Given the description of an element on the screen output the (x, y) to click on. 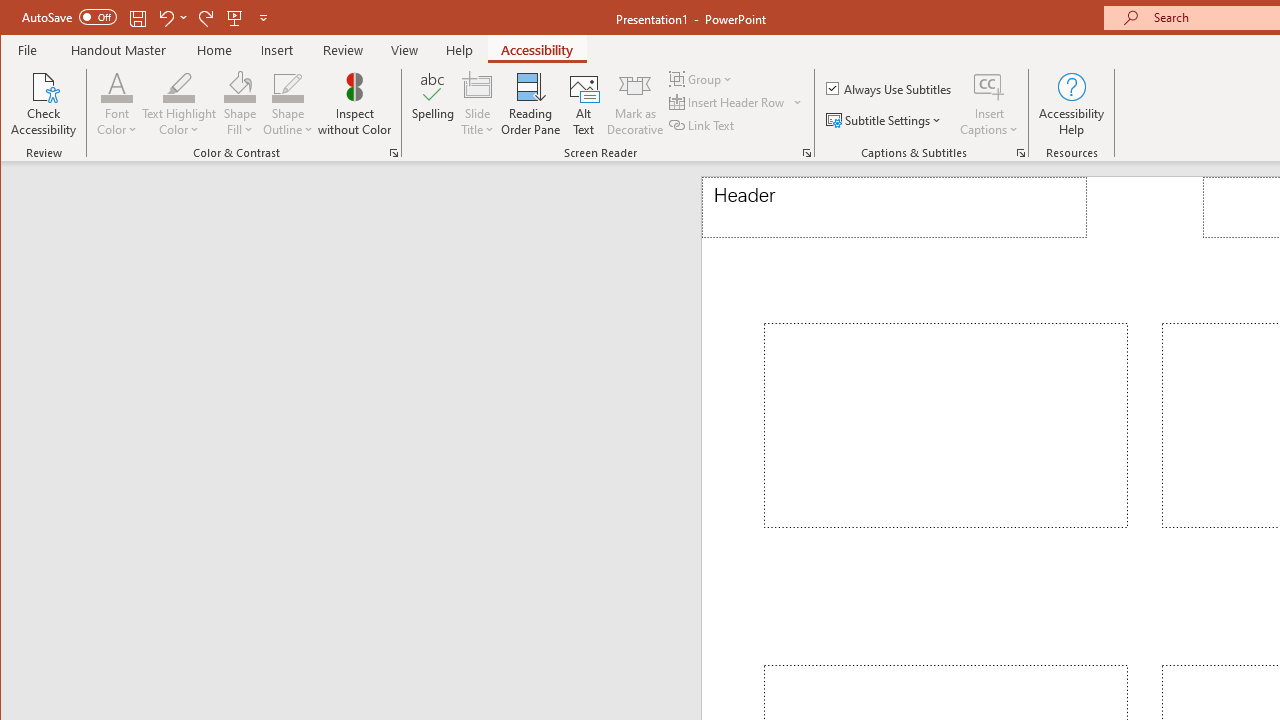
Reading Order Pane (531, 104)
Color & Contrast (393, 152)
Inspect without Color (355, 104)
Alt Text (584, 104)
Text Highlight Color (178, 86)
Font Color (116, 86)
Always Use Subtitles (890, 88)
Link Text (703, 124)
